Given the description of an element on the screen output the (x, y) to click on. 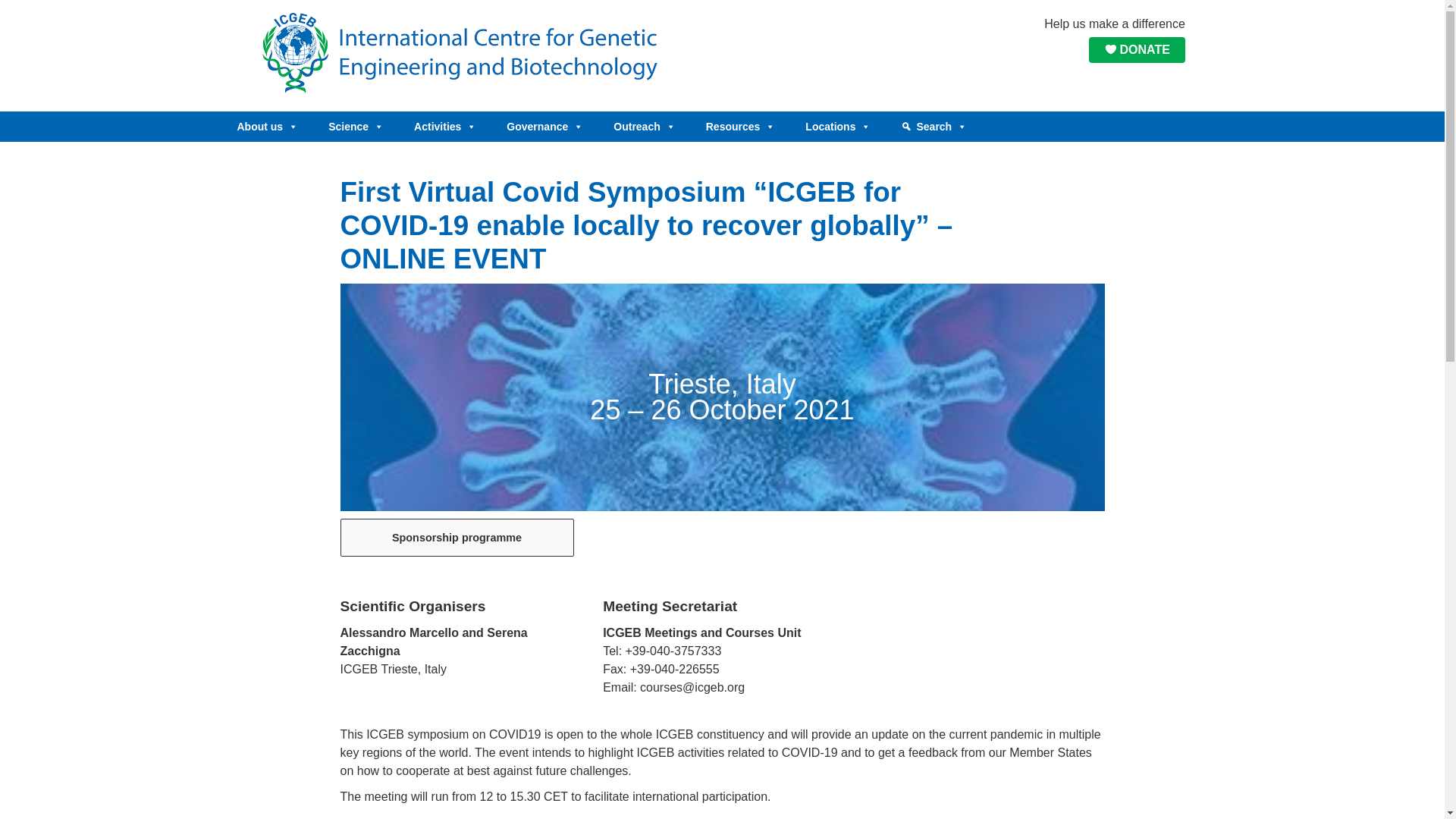
Activities (445, 126)
About us (267, 126)
DONATE (1137, 49)
Science (355, 126)
DONATE (1136, 49)
Governance (545, 126)
